Given the description of an element on the screen output the (x, y) to click on. 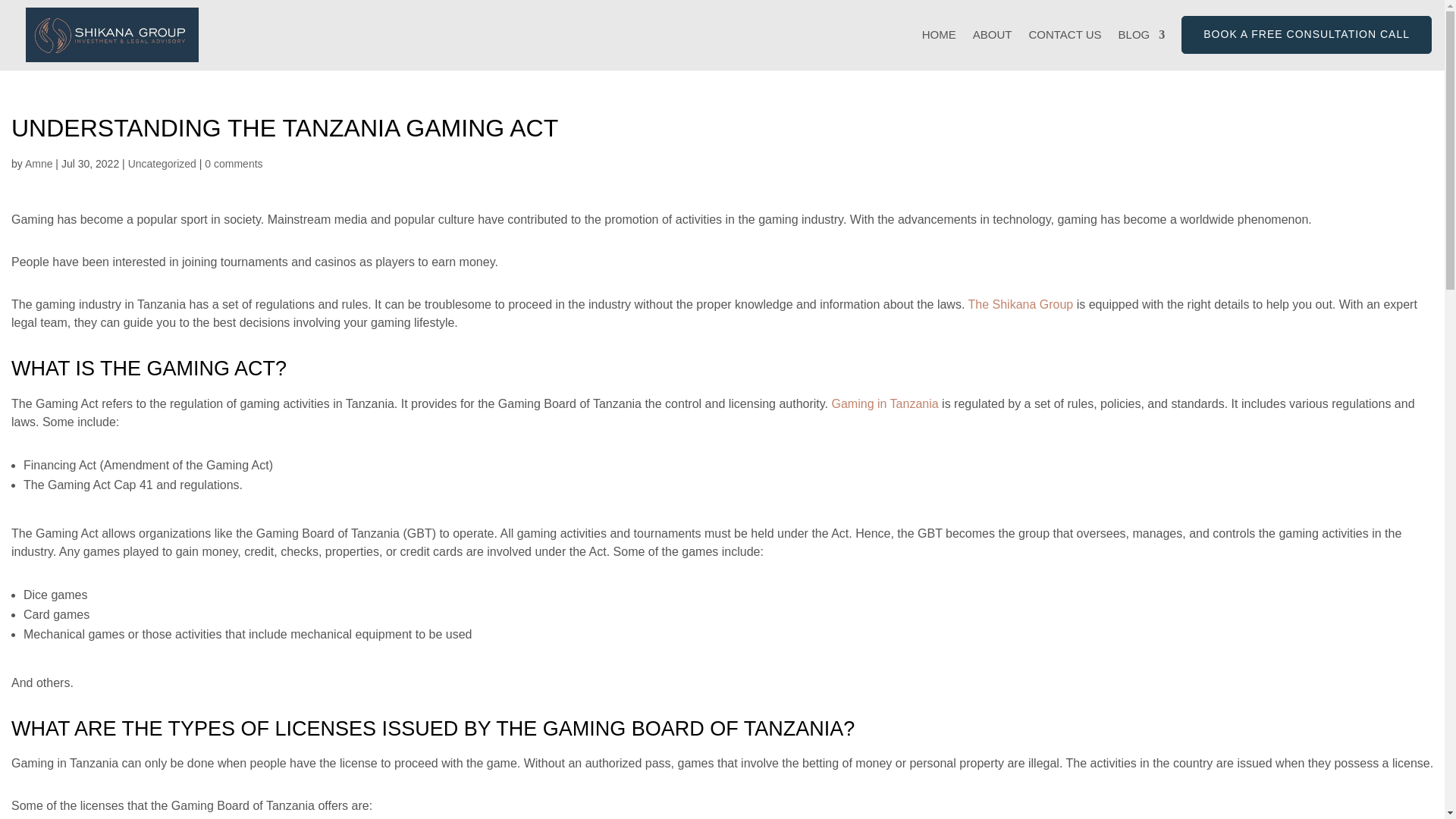
BOOK A FREE CONSULTATION CALL (1305, 34)
0 comments (233, 163)
Uncategorized (162, 163)
CONTACT US (1063, 49)
Gaming in Tanzania (884, 403)
ABOUT (991, 49)
Amne (38, 163)
BLOG (1142, 49)
The Shikana Group (1021, 304)
Posts by Amne (38, 163)
